Given the description of an element on the screen output the (x, y) to click on. 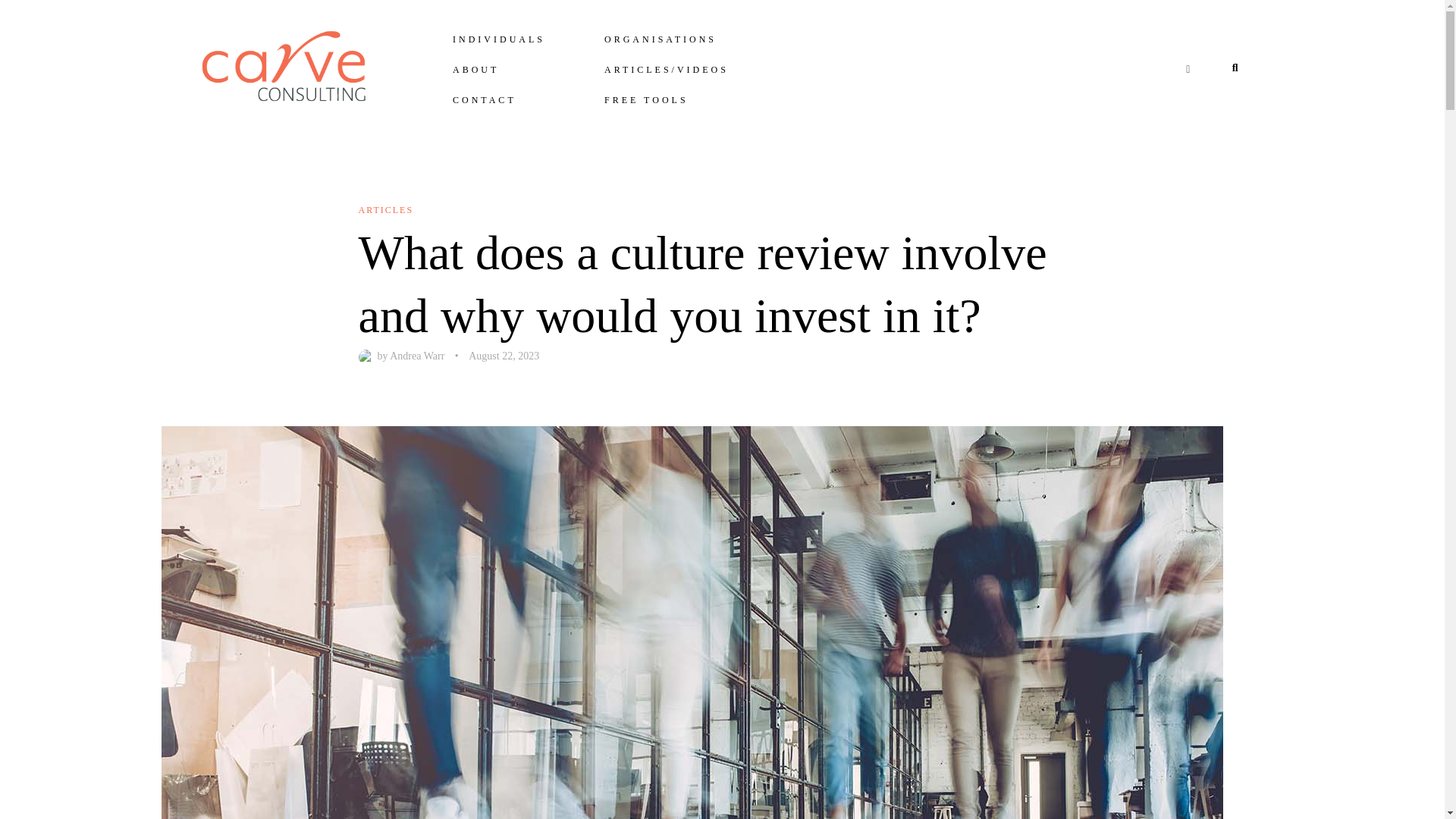
INDIVIDUALS (499, 39)
ORGANISATIONS (660, 39)
Posts by Andrea Warr (367, 355)
August 22, 2023 (503, 355)
Andrea Warr (417, 355)
Carve Consulting (281, 66)
10:45 am (503, 355)
View all posts by Andrea Warr (417, 355)
FREE TOOLS (646, 100)
ABOUT (475, 69)
CONTACT (484, 100)
ARTICLES (385, 209)
